Given the description of an element on the screen output the (x, y) to click on. 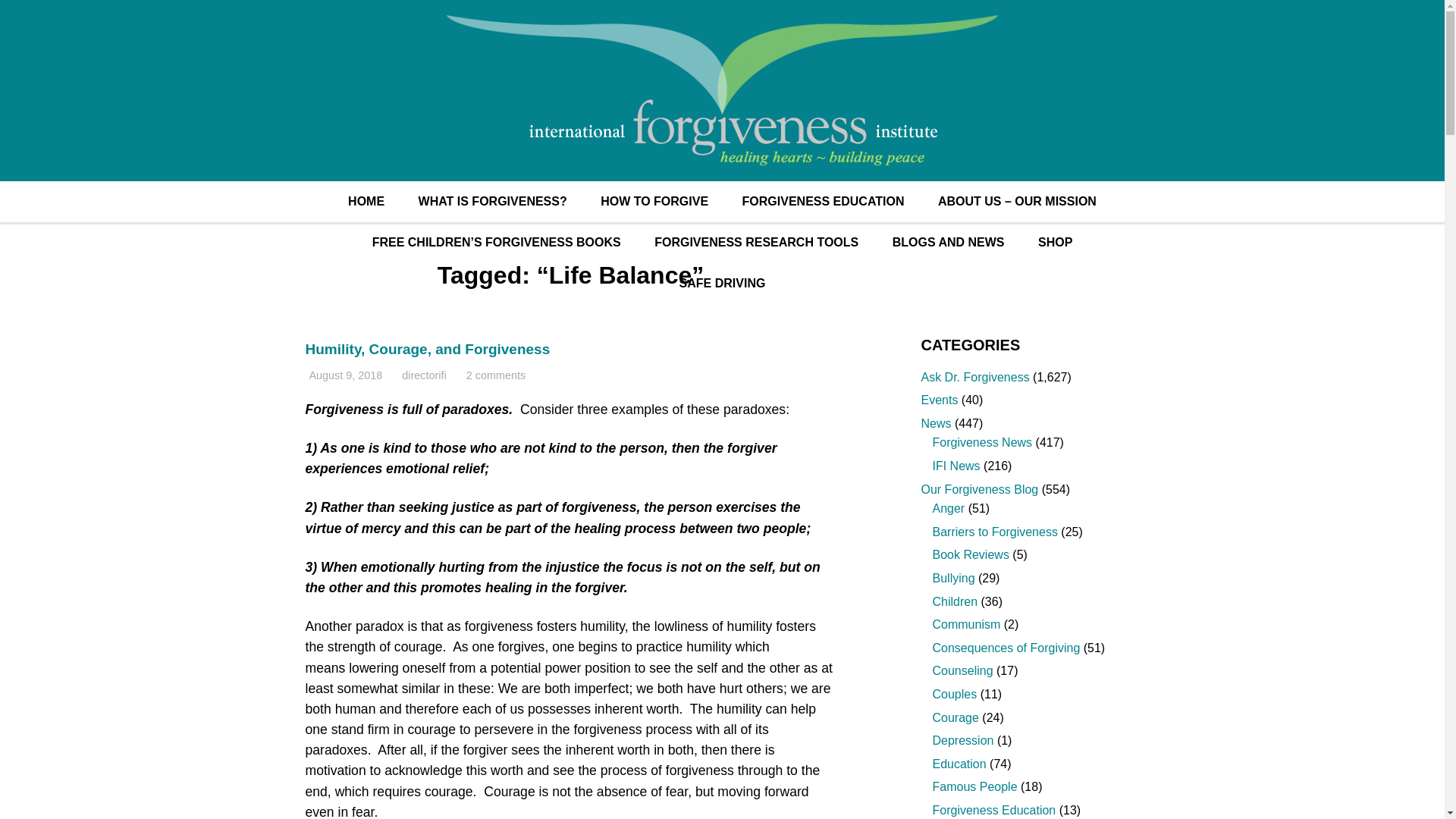
Posts by directorifi (423, 375)
